Given the description of an element on the screen output the (x, y) to click on. 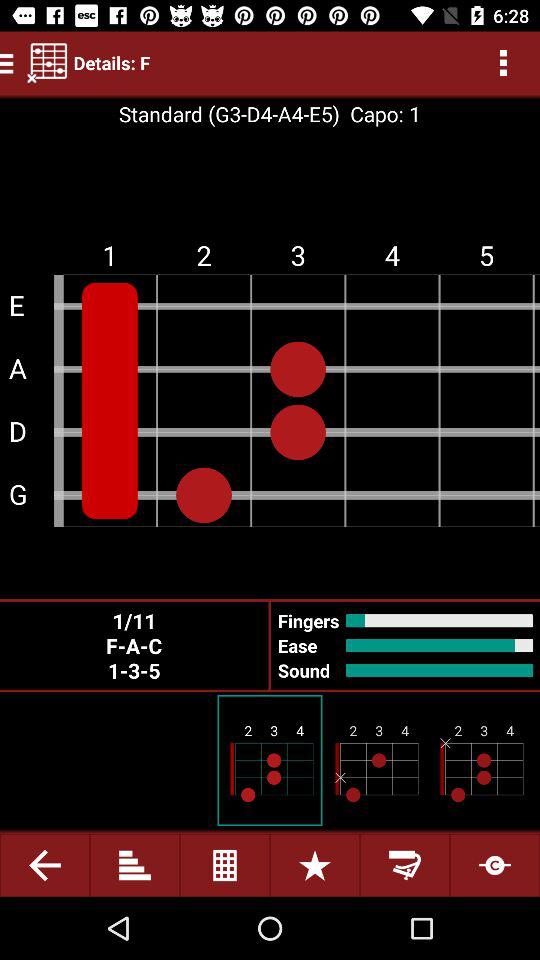
scroll until 1 11 f (134, 645)
